Given the description of an element on the screen output the (x, y) to click on. 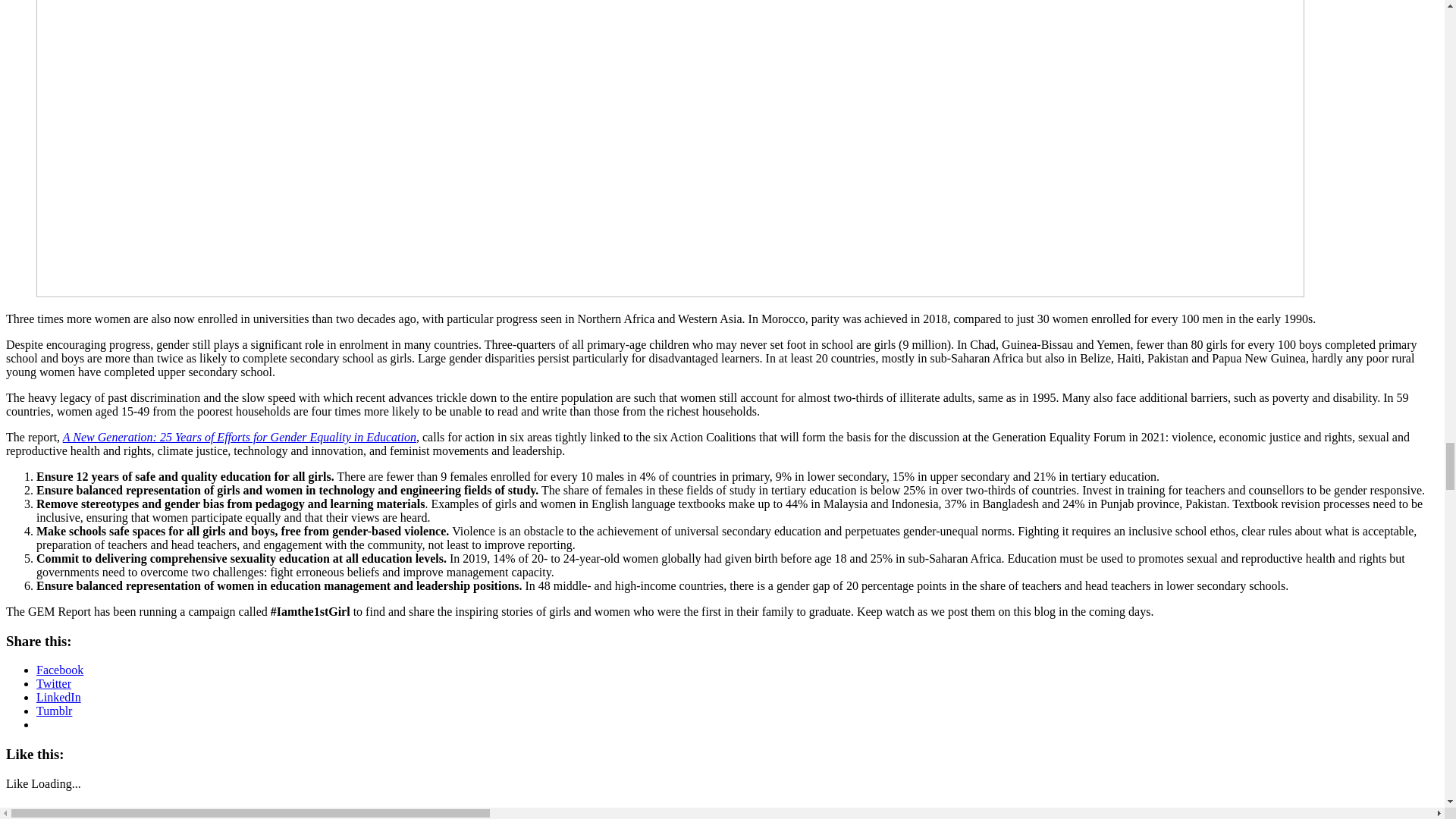
Click to share on LinkedIn (58, 697)
Click to share on Twitter (53, 683)
Click to share on Tumblr (53, 710)
Click to share on Facebook (59, 669)
